Given the description of an element on the screen output the (x, y) to click on. 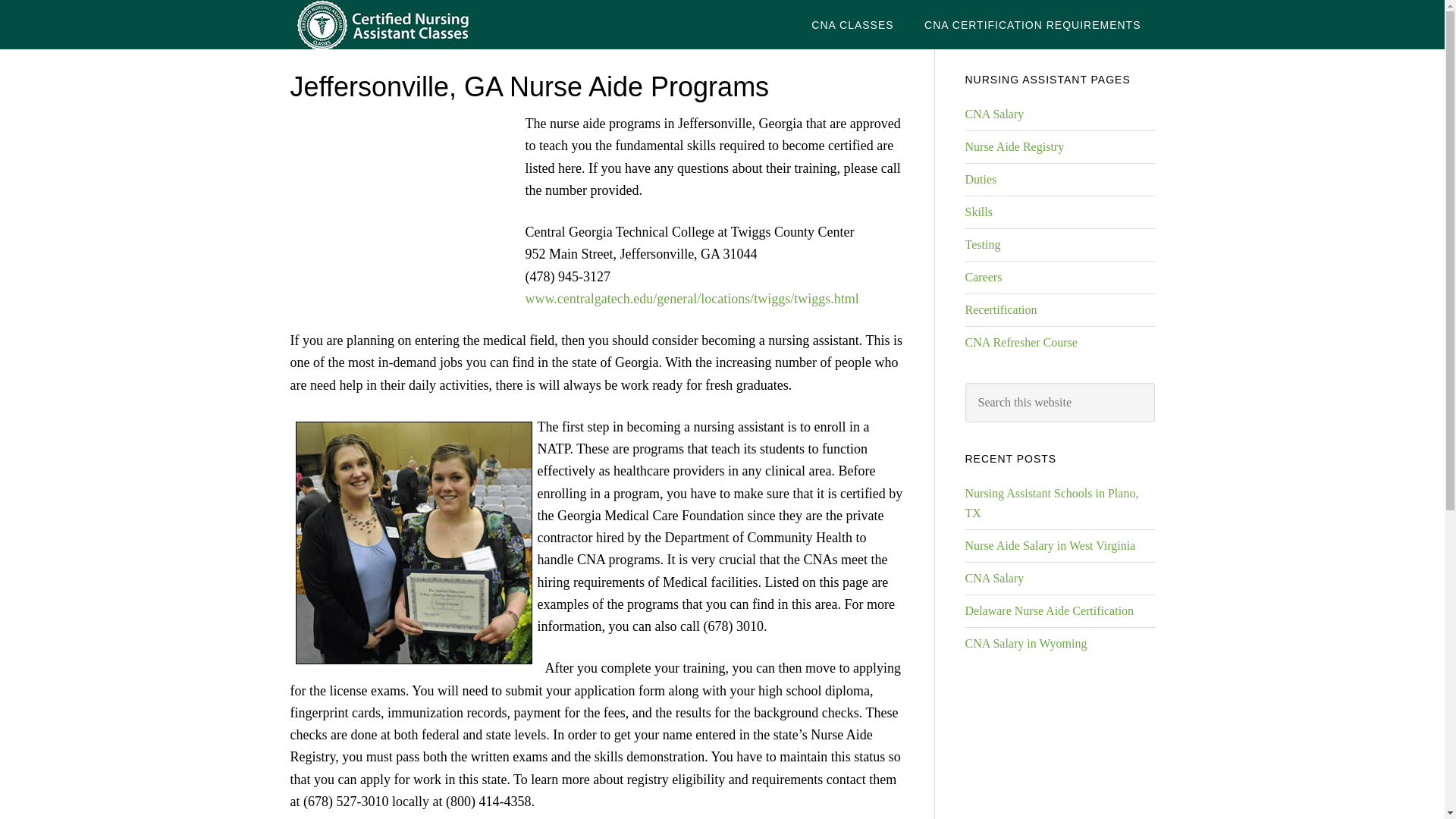
CNA Refresher Course (1020, 341)
CNA CERTIFICATION REQUIREMENTS (1032, 24)
Testing (981, 244)
CNA Salary in Wyoming (1024, 643)
Advertisement (402, 215)
Skills (977, 211)
CNA CLASSES (852, 24)
Delaware Nurse Aide Certification (1048, 610)
CNAEDU.COM (410, 24)
Nursing Assistant Schools in Plano, TX (1050, 502)
Recertification (999, 309)
CNA Salary (993, 577)
